Given the description of an element on the screen output the (x, y) to click on. 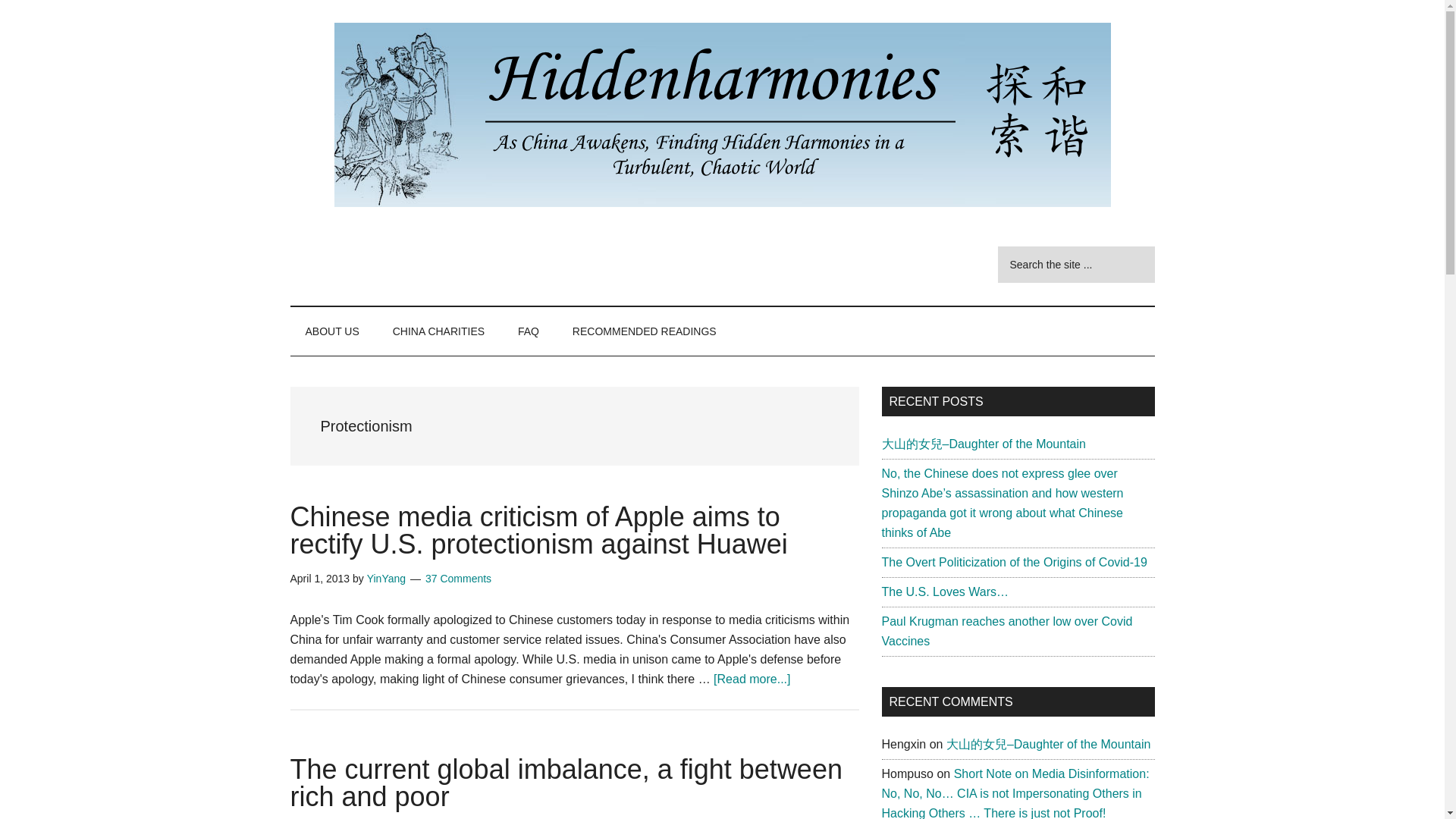
Paul Krugman reaches another low over Covid Vaccines (1006, 631)
The current global imbalance, a fight between rich and poor (565, 782)
37 Comments (458, 578)
FAQ (528, 331)
ABOUT US (331, 331)
CHINA CHARITIES (438, 331)
